Given the description of an element on the screen output the (x, y) to click on. 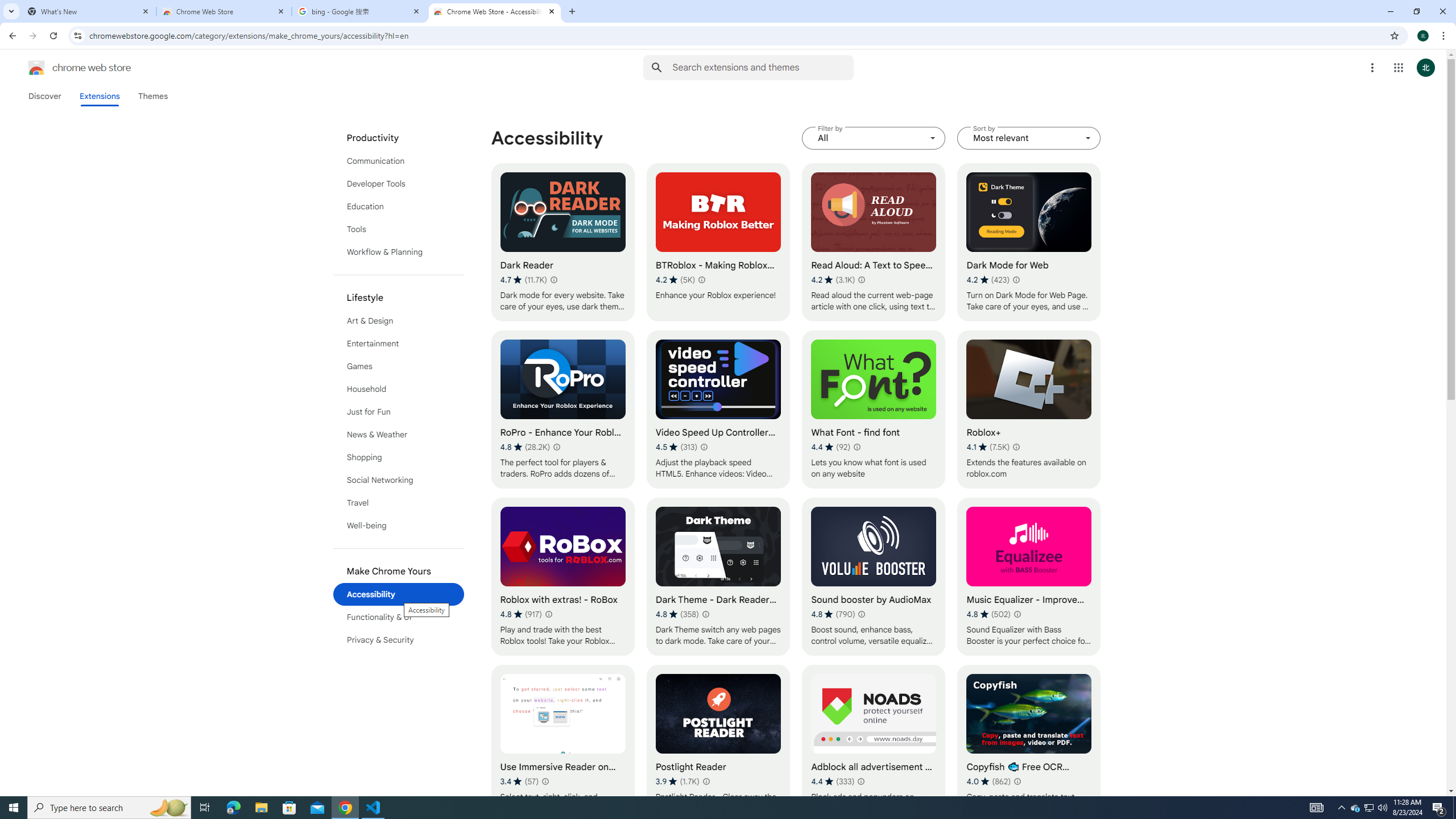
BTRoblox - Making Roblox Better (718, 241)
Average rating 4.8 out of 5 stars. 358 ratings. (676, 613)
Average rating 4.0 out of 5 stars. 862 ratings. (988, 781)
Well-being (398, 525)
Filter by All (874, 137)
Communication (398, 160)
Travel (398, 502)
Learn more about results and reviews "Roblox+" (1016, 446)
Themes (152, 95)
Shopping (398, 456)
Roblox+ (1028, 409)
